Given the description of an element on the screen output the (x, y) to click on. 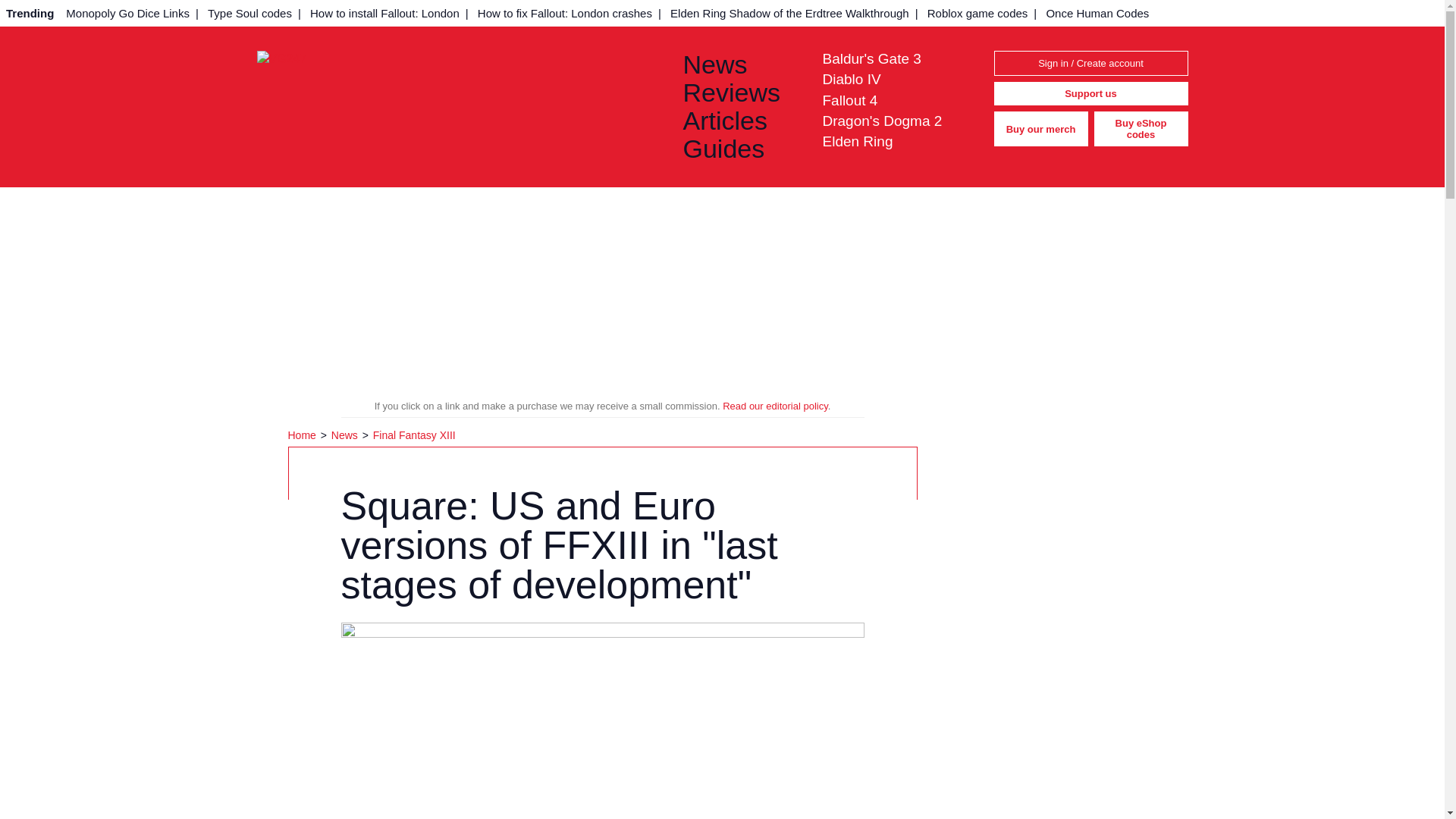
Diablo IV (851, 78)
Buy eShop codes (1140, 128)
Elden Ring (857, 141)
News (739, 64)
How to fix Fallout: London crashes (564, 13)
Guides (739, 148)
Guides (739, 148)
Diablo IV (851, 78)
How to install Fallout: London (384, 13)
Home (303, 435)
Monopoly Go Dice Links (127, 13)
Dragon's Dogma 2 (882, 120)
Articles (739, 121)
News (346, 435)
Elden Ring Shadow of the Erdtree Walkthrough (789, 13)
